Given the description of an element on the screen output the (x, y) to click on. 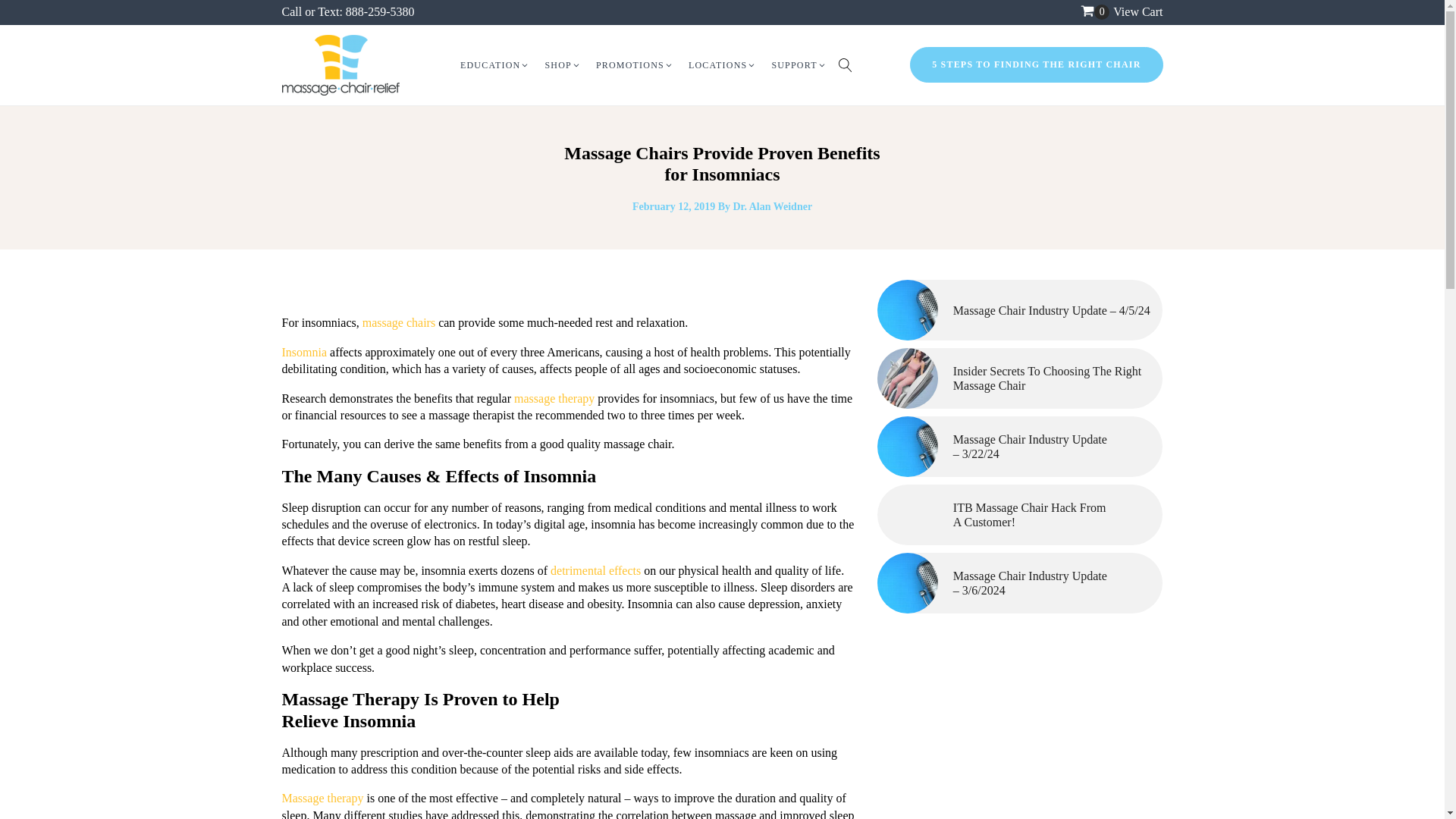
EDUCATION (494, 65)
Go to Cart (1094, 12)
SHOP (562, 65)
Call or Text: 888-259-5380 (348, 11)
View Cart (1137, 11)
